Given the description of an element on the screen output the (x, y) to click on. 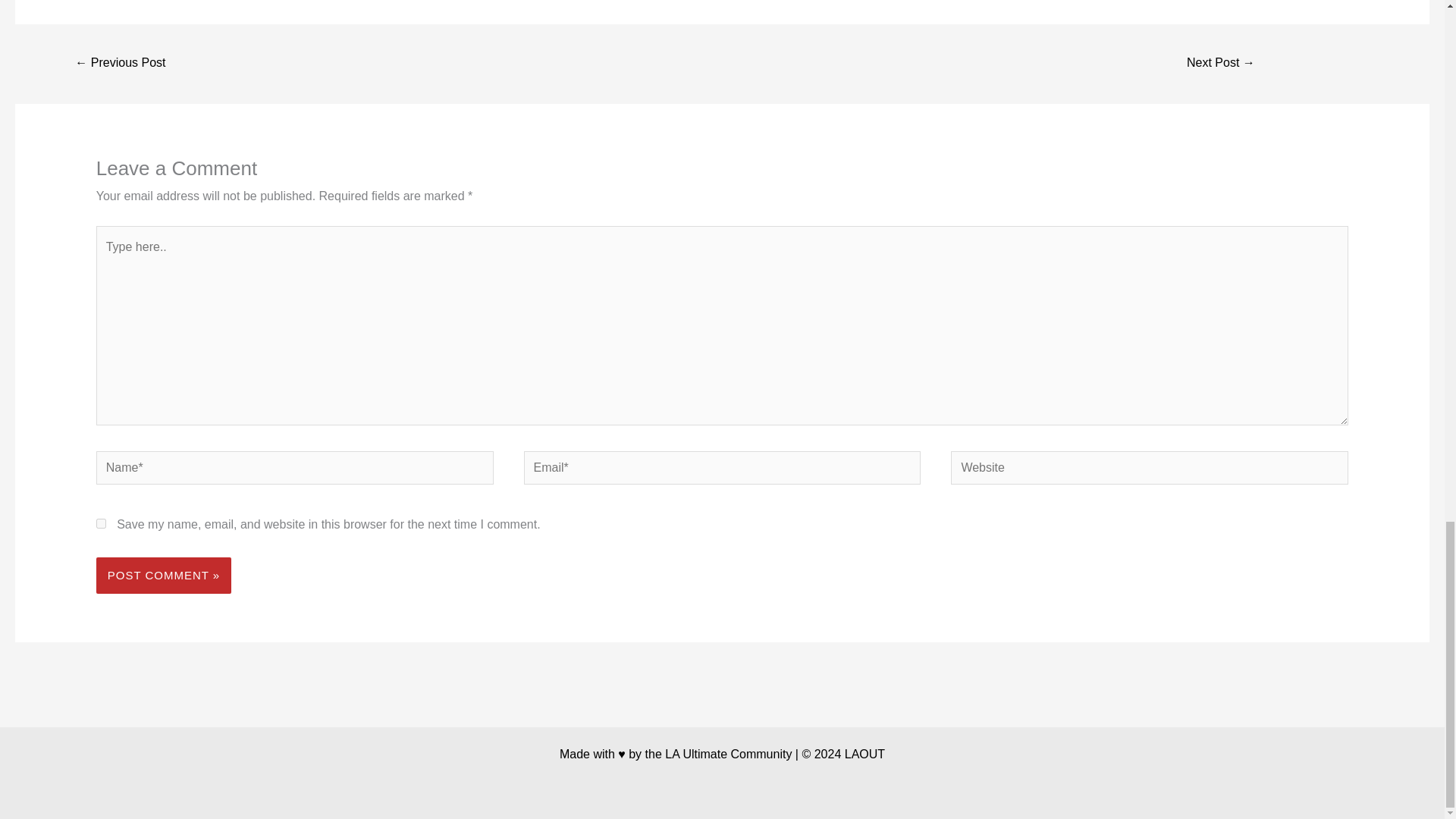
yes (101, 523)
Rampage (119, 63)
Fall Beach League 2023 (1220, 63)
